Given the description of an element on the screen output the (x, y) to click on. 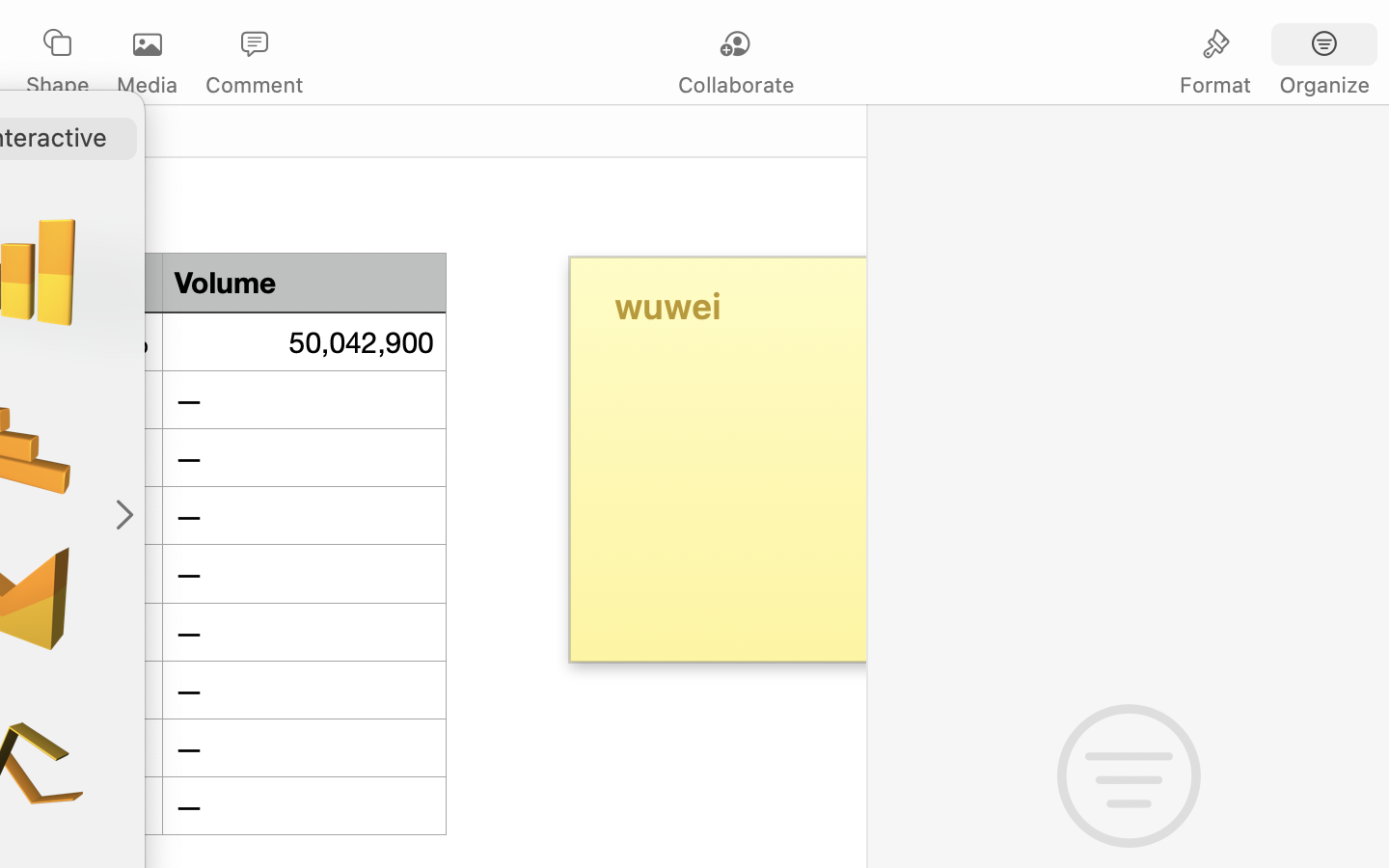
Format Element type: AXStaticText (1215, 84)
<AXUIElement 0x2889fffa0> {pid=1420} Element type: AXGroup (1270, 45)
Organize Element type: AXStaticText (1323, 84)
Media Element type: AXStaticText (146, 84)
